Given the description of an element on the screen output the (x, y) to click on. 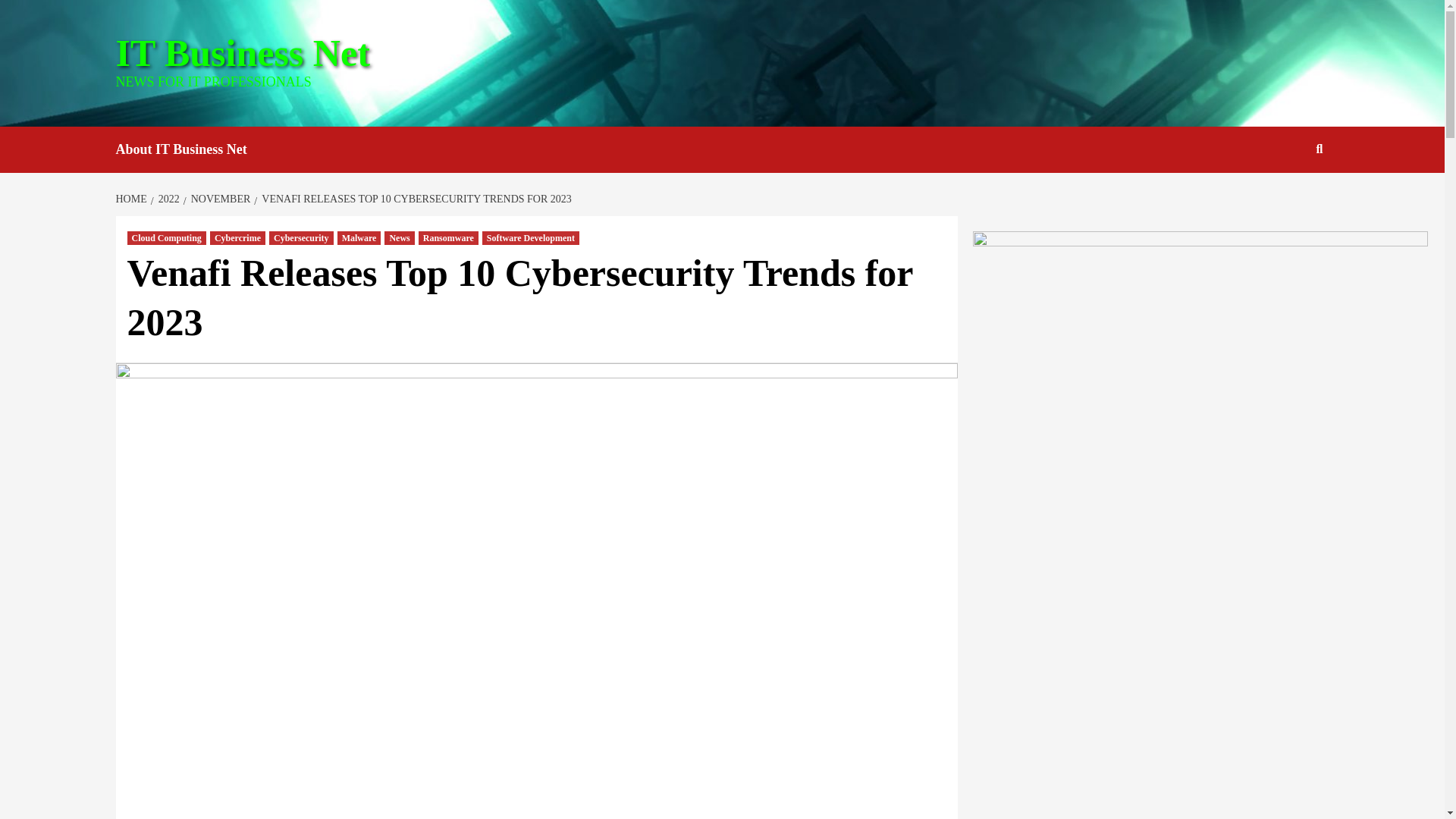
IT Business Net (242, 52)
Ransomware (449, 237)
Software Development (530, 237)
Cybercrime (236, 237)
Malware (359, 237)
Cloud Computing (167, 237)
About IT Business Net (192, 149)
Search (1283, 197)
NOVEMBER (218, 198)
2022 (167, 198)
VENAFI RELEASES TOP 10 CYBERSECURITY TRENDS FOR 2023 (414, 198)
News (398, 237)
Cybersecurity (301, 237)
HOME (132, 198)
